Given the description of an element on the screen output the (x, y) to click on. 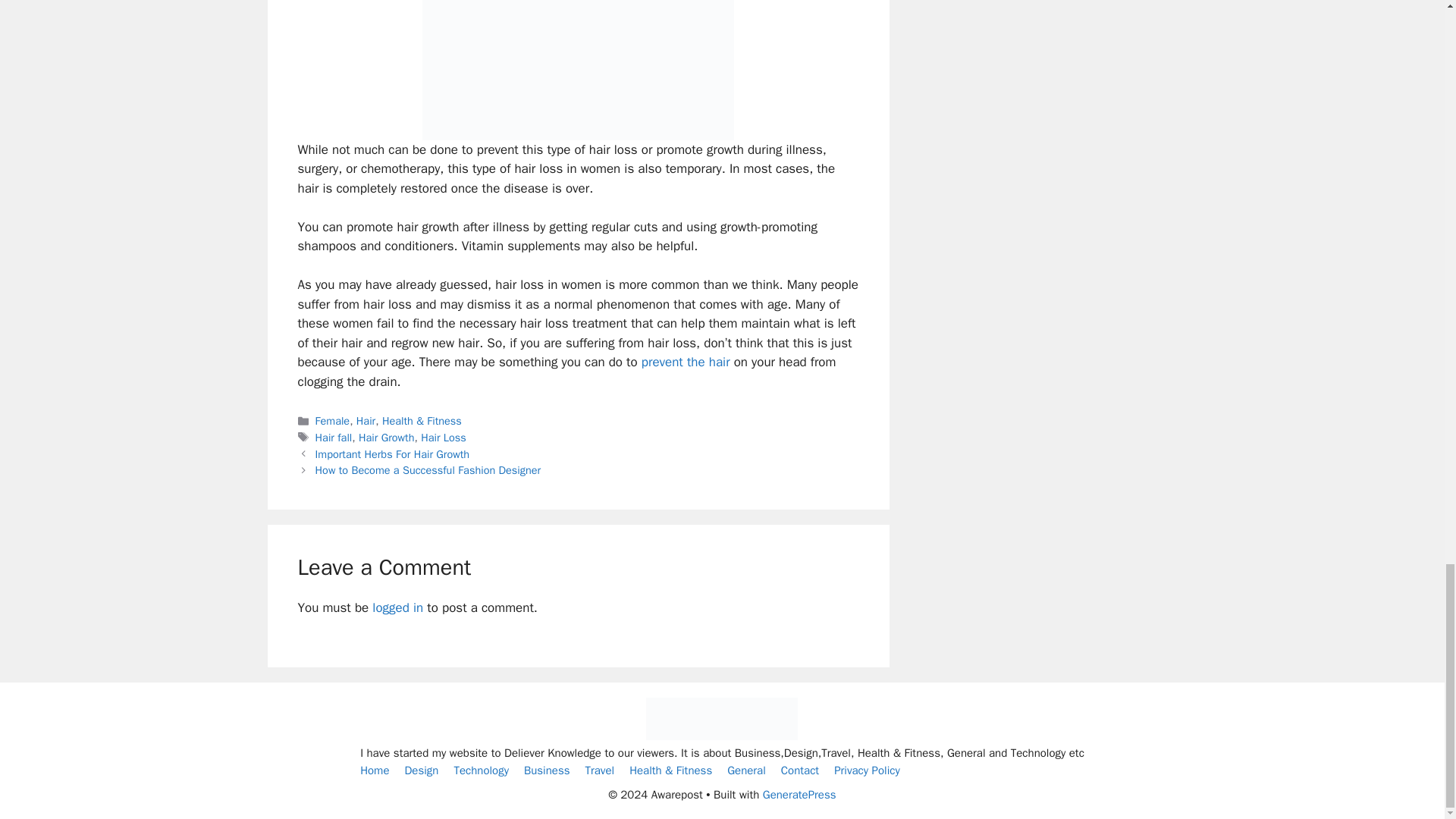
logged in (397, 607)
Hair Growth (386, 437)
Female (332, 420)
Hair Loss (442, 437)
Hair (365, 420)
Awarepost.com (721, 735)
prevent the hair (686, 361)
How to Become a Successful Fashion Designer (428, 469)
Hair fall (333, 437)
Important Herbs For Hair Growth (392, 454)
